Given the description of an element on the screen output the (x, y) to click on. 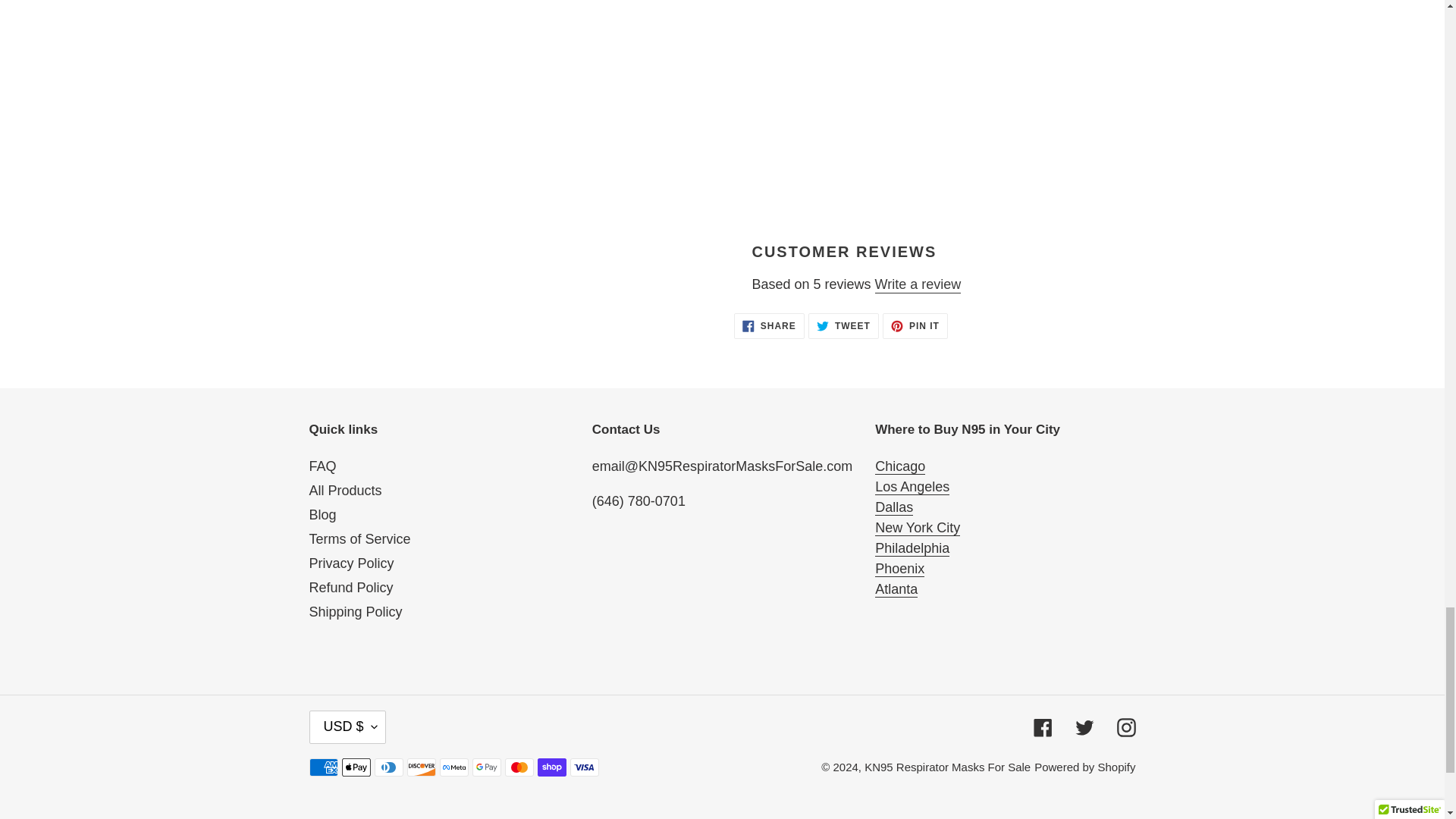
YouTube video player (934, 99)
